Given the description of an element on the screen output the (x, y) to click on. 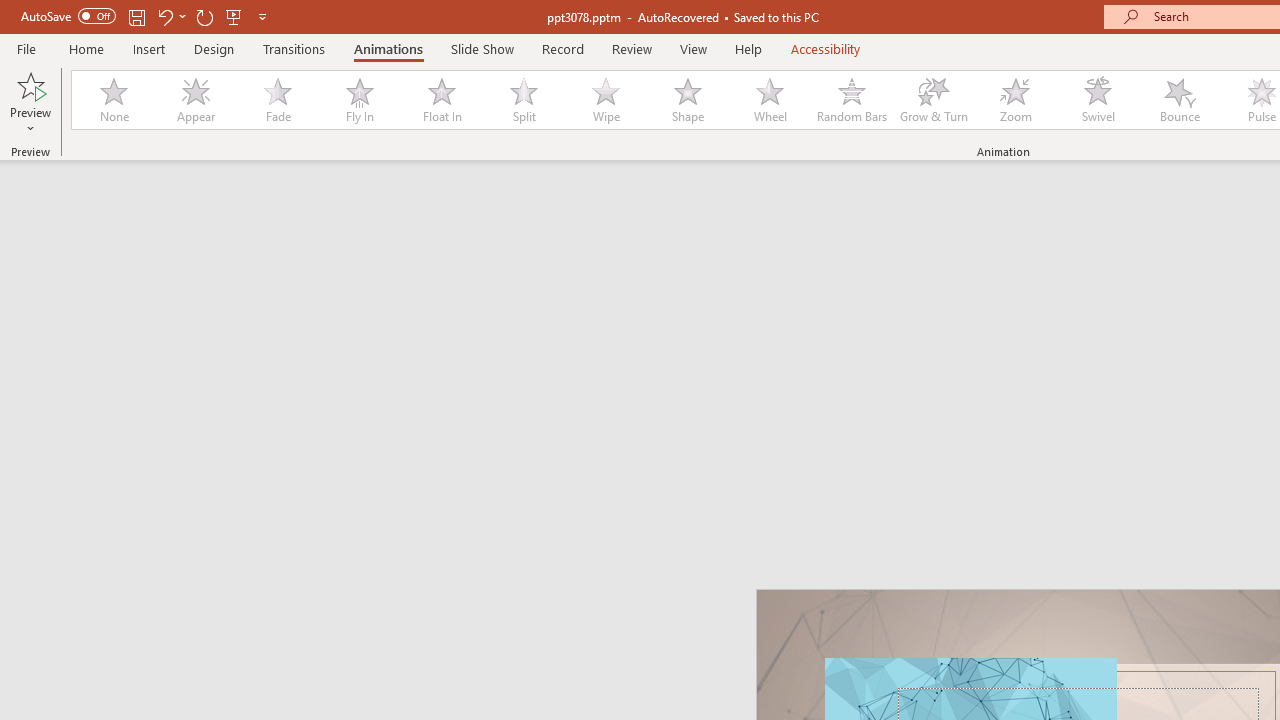
Bounce (1180, 100)
Grow & Turn (934, 100)
Random Bars (852, 100)
Swivel (1098, 100)
Fly In (359, 100)
